Given the description of an element on the screen output the (x, y) to click on. 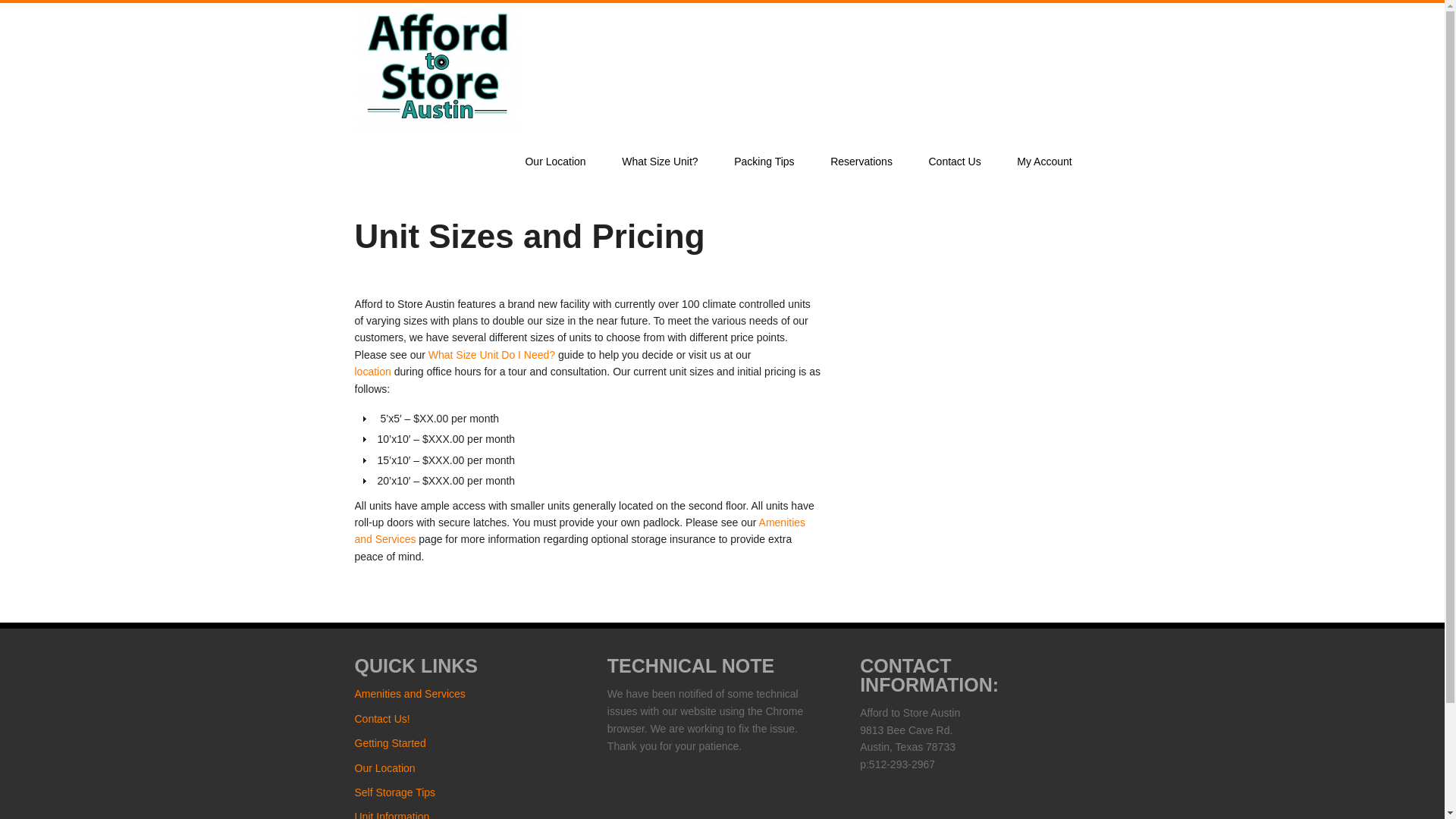
Our Location (373, 371)
Contact Us (954, 161)
Packing Tips (764, 161)
Amenities and Services (580, 530)
Our Location (384, 767)
Afford to Store Austin (438, 132)
location (373, 371)
Contact Us! (382, 718)
What Size Unit? (660, 161)
Unit Information (392, 814)
Reservations (861, 161)
My Account (1044, 161)
What Size Unit Do I Need? (491, 354)
Self Storage Tips (395, 792)
Amenities and Services (580, 530)
